Given the description of an element on the screen output the (x, y) to click on. 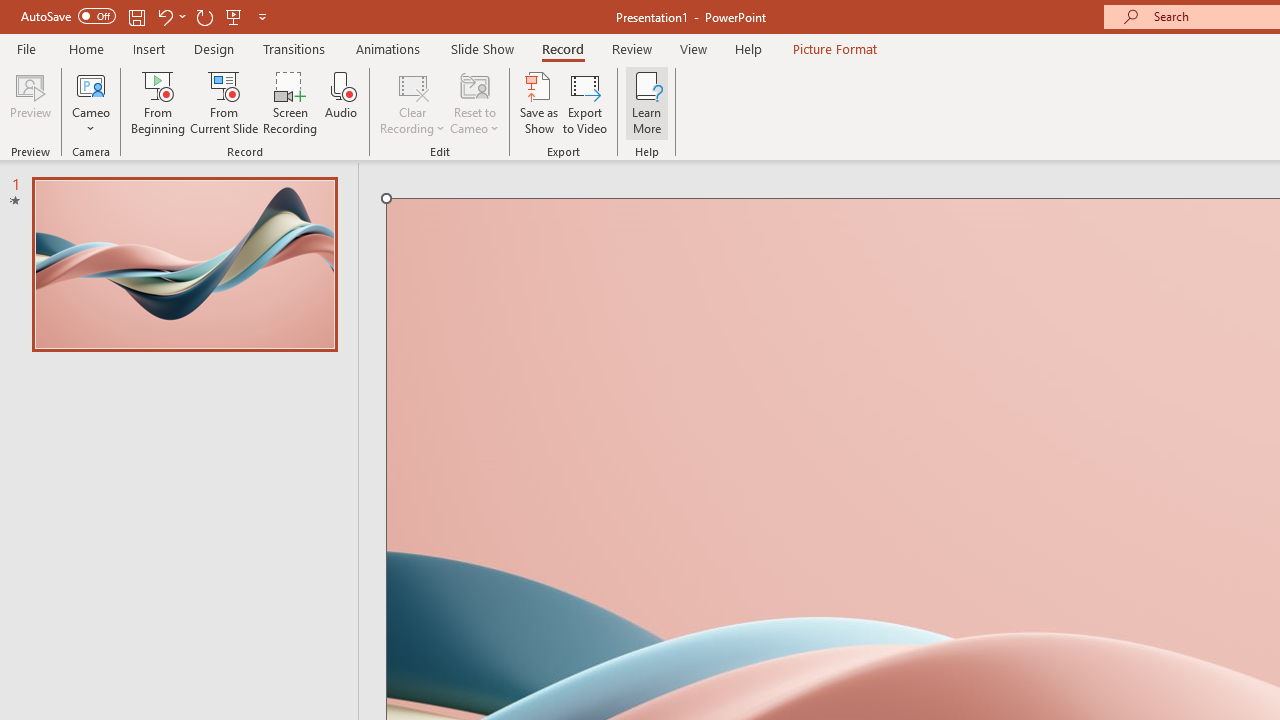
Cameo (91, 84)
AutoSave (68, 16)
Slide (184, 263)
Quick Access Toolbar (145, 16)
Redo (204, 15)
Review (631, 48)
Home (86, 48)
Reset to Cameo (474, 102)
Customize Quick Access Toolbar (262, 15)
Design (214, 48)
File Tab (26, 48)
From Beginning... (158, 102)
Learn More (646, 102)
Insert (149, 48)
